Given the description of an element on the screen output the (x, y) to click on. 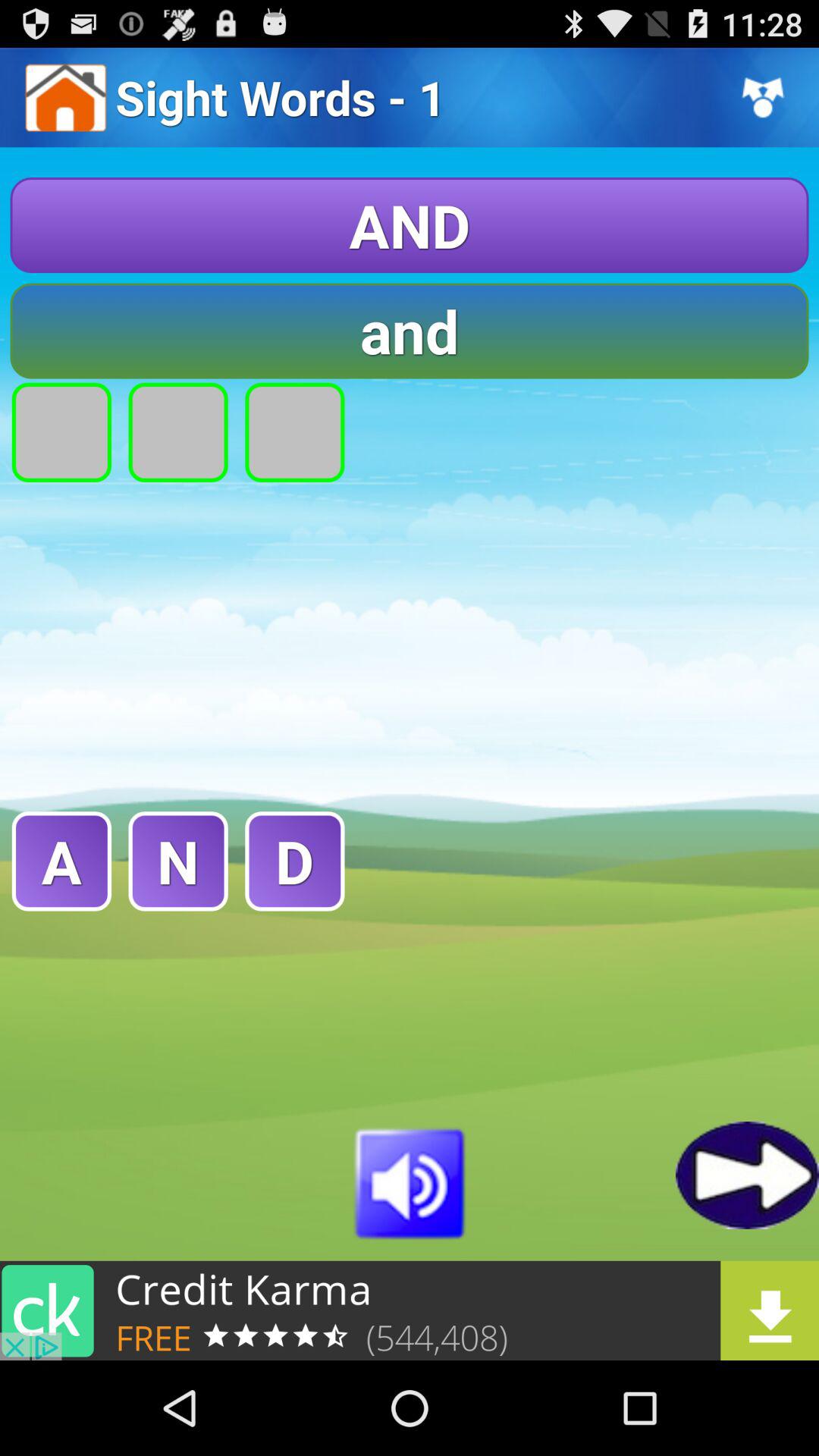
click arrow button (747, 1175)
